Given the description of an element on the screen output the (x, y) to click on. 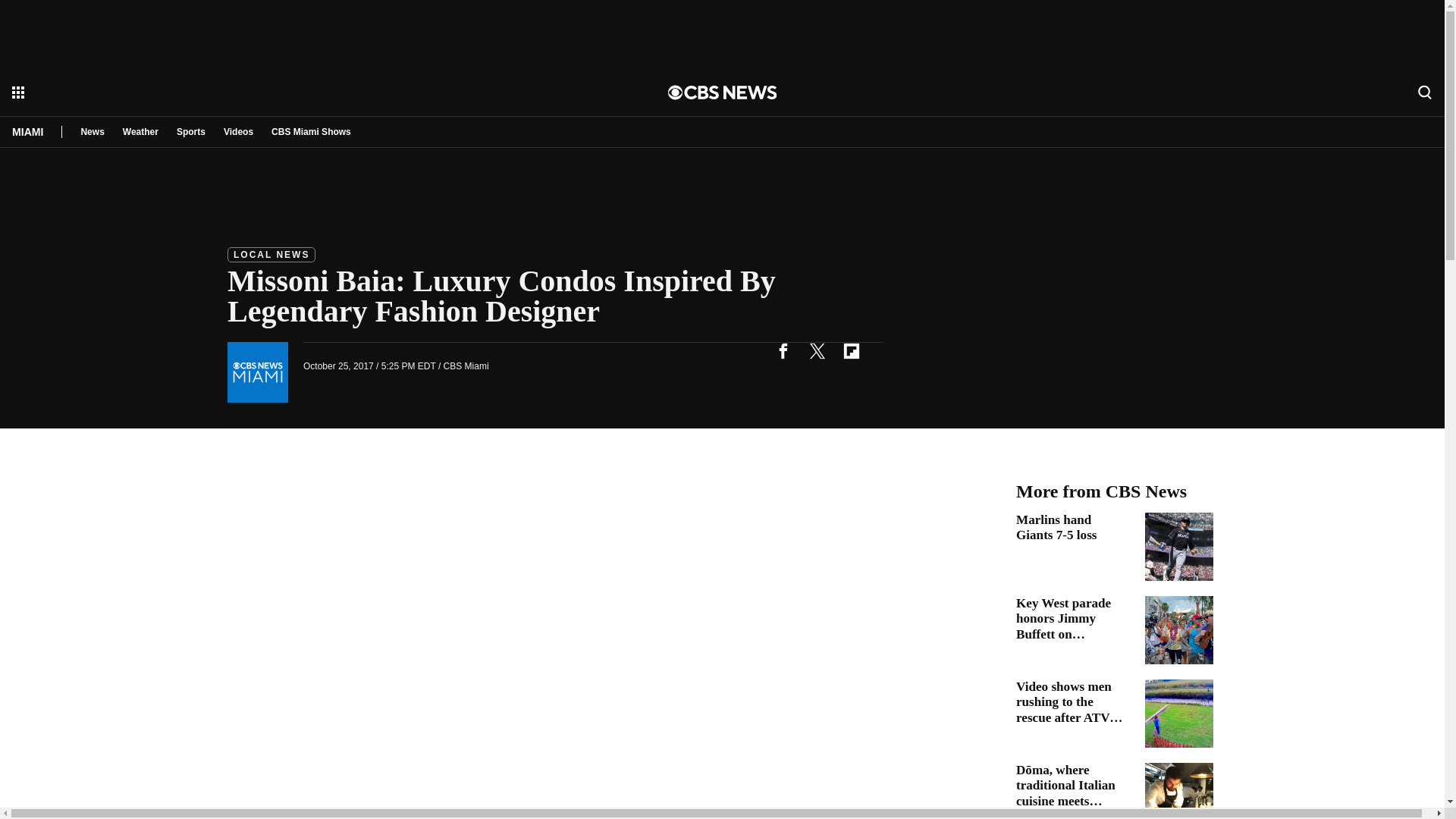
twitter (816, 350)
facebook (782, 350)
flipboard (850, 350)
